Given the description of an element on the screen output the (x, y) to click on. 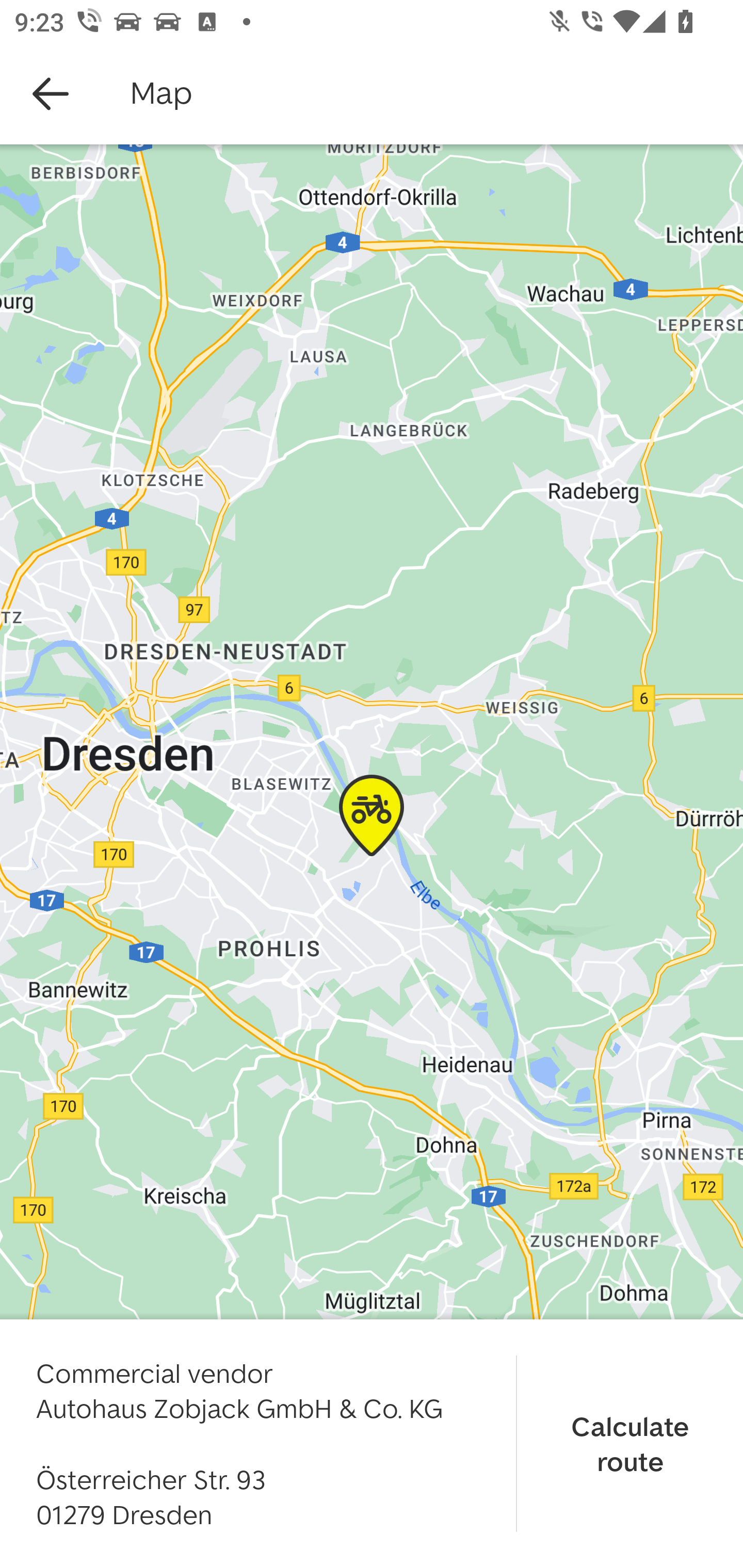
Navigate up (50, 93)
Calculate route (630, 1443)
